Given the description of an element on the screen output the (x, y) to click on. 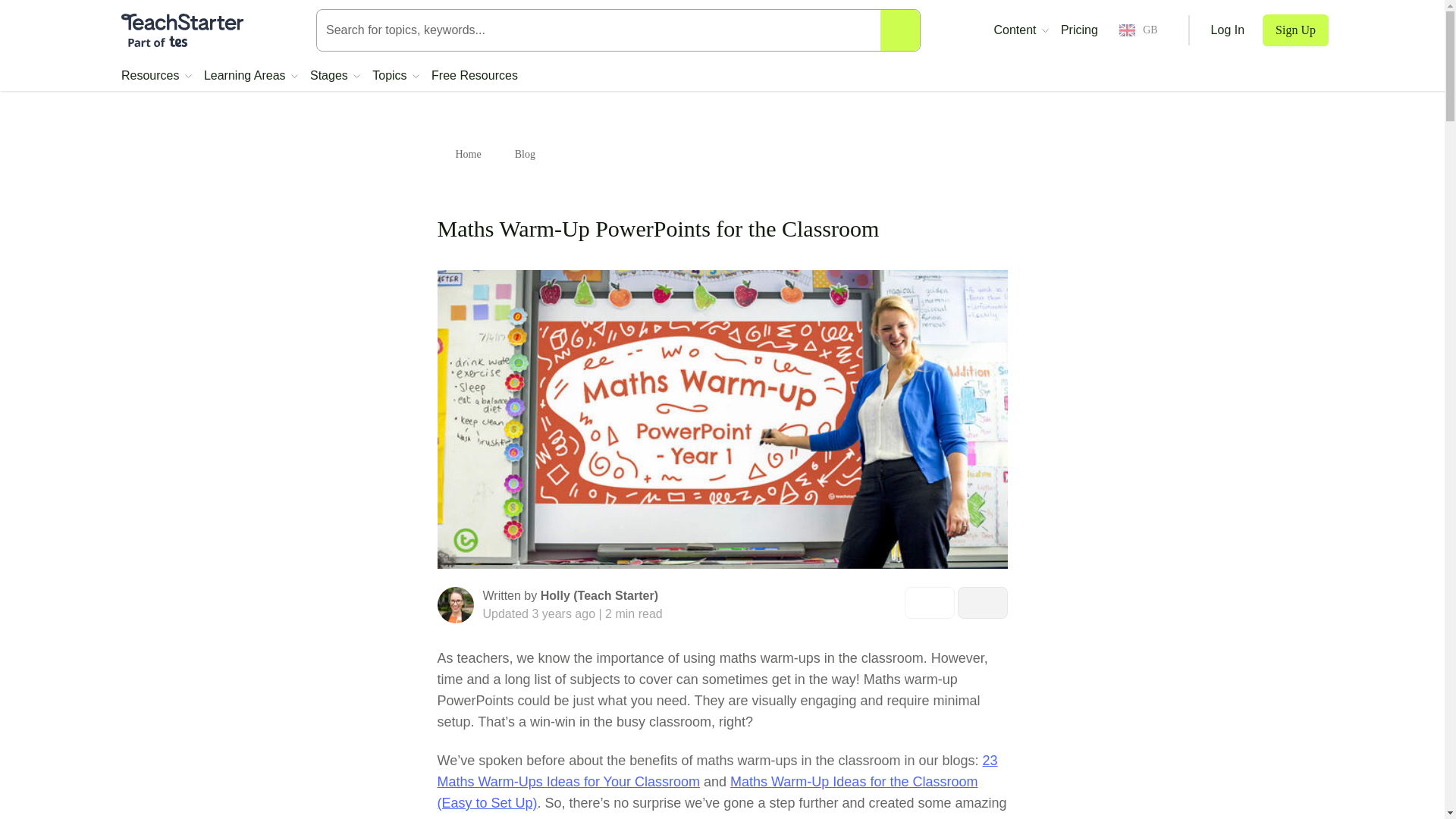
Content  (1020, 30)
Learning Areas  (250, 75)
Change location (1138, 30)
Sign Up (1294, 29)
Resources  (156, 75)
Blog, podcast, and webinars (1020, 30)
Log In (1227, 30)
Pricing (1079, 30)
Create a Teach Starter account (1294, 29)
Stages  (334, 75)
GB (1138, 30)
Back to homepage (181, 29)
Resources (156, 75)
Log in to your account (1227, 30)
Teach Starter, part of Tes (181, 29)
